Given the description of an element on the screen output the (x, y) to click on. 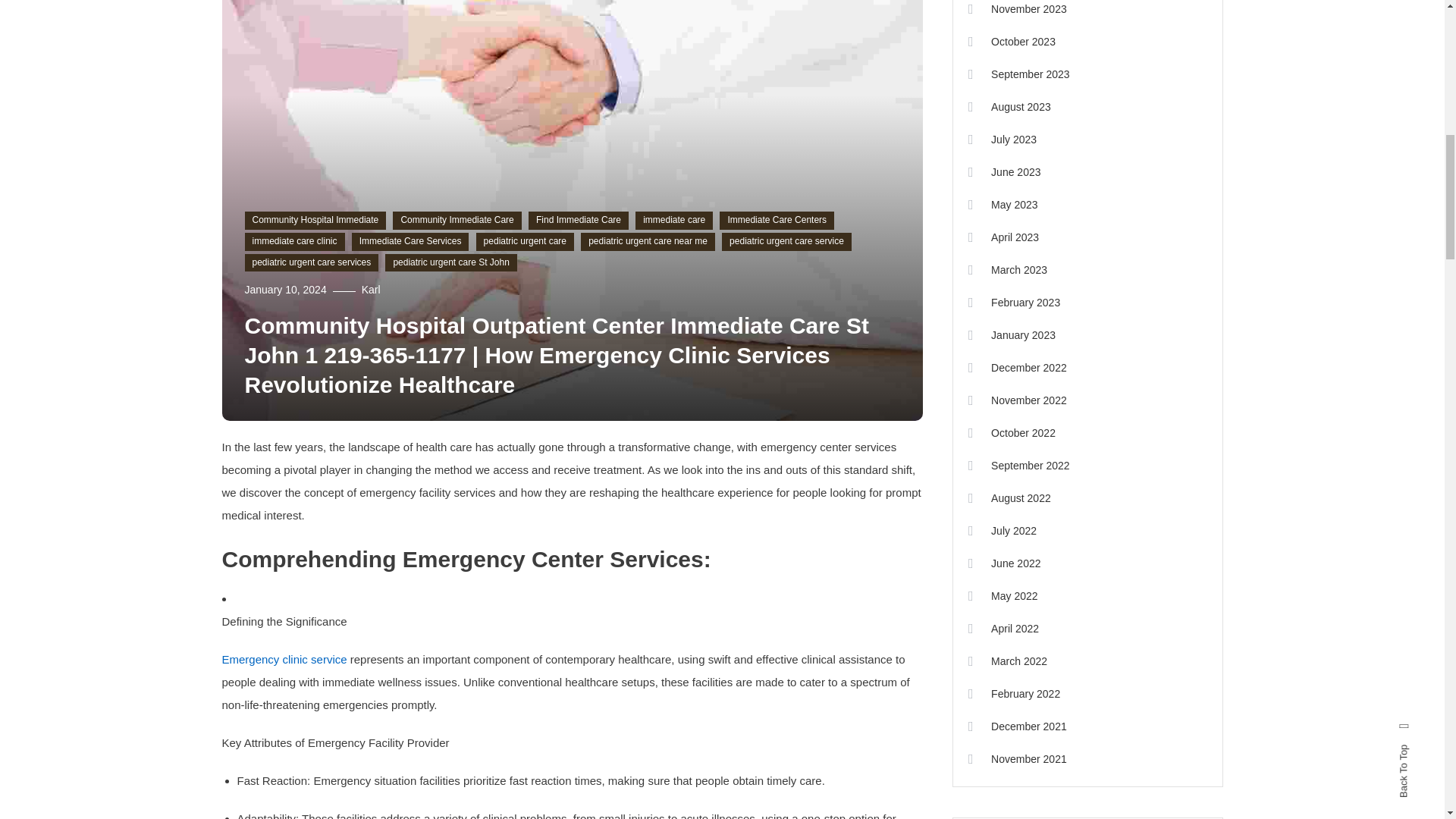
Community Hospital Immediate (314, 220)
